Given the description of an element on the screen output the (x, y) to click on. 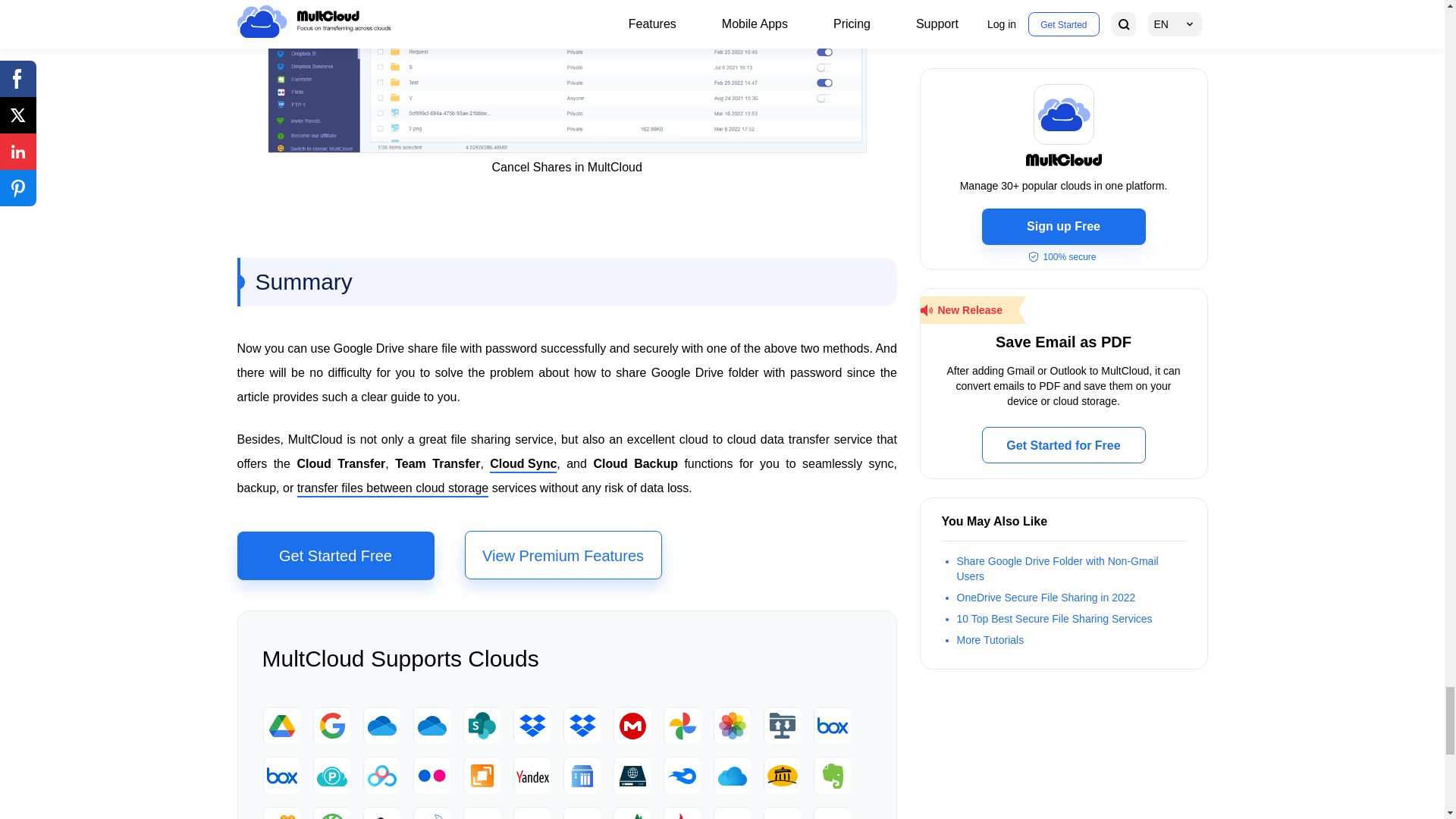
Transfer Files between Cloud Storage (393, 488)
